Given the description of an element on the screen output the (x, y) to click on. 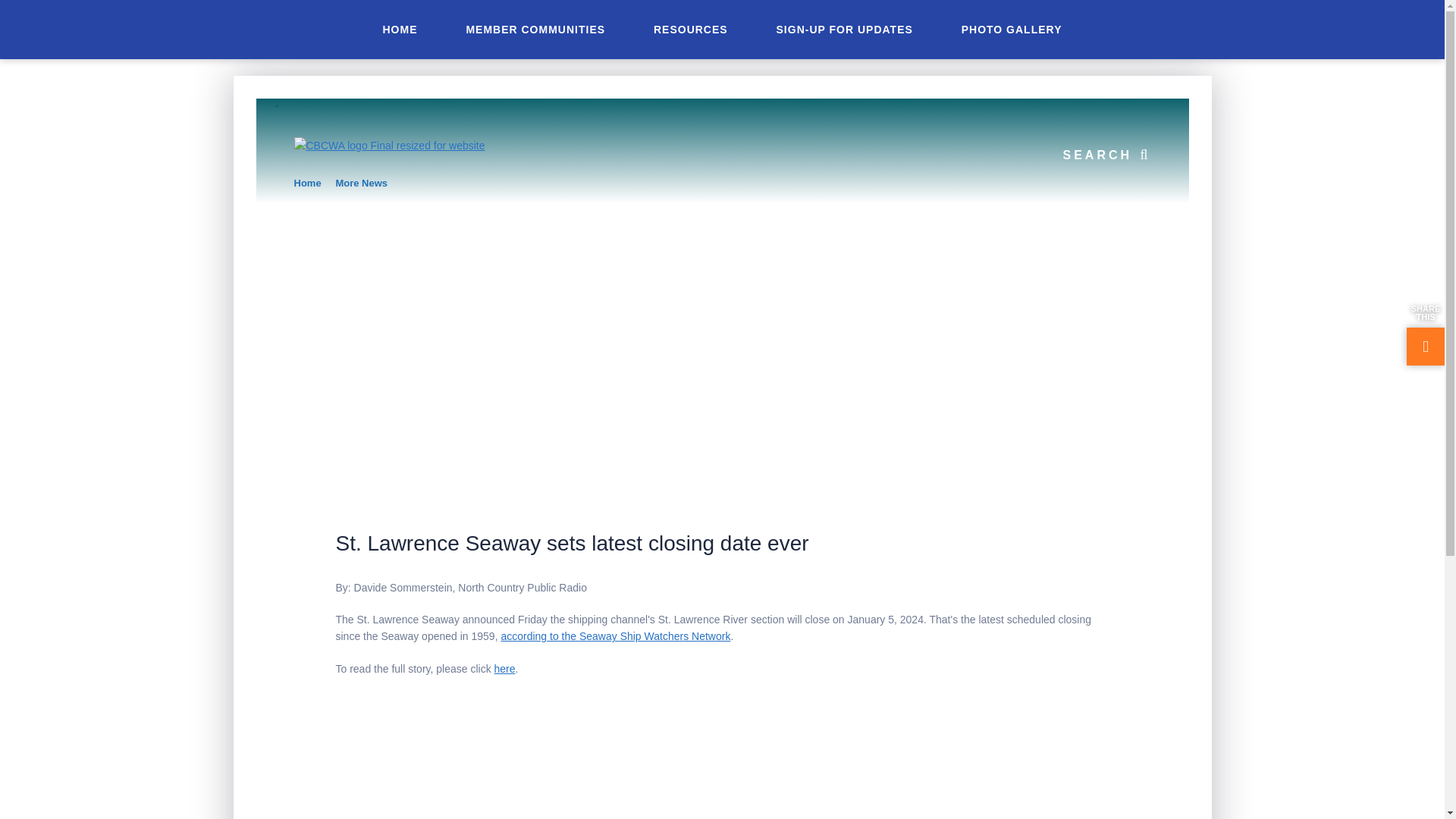
More News (360, 183)
SIGN-UP FOR UPDATES (845, 29)
HOME (399, 29)
MEMBER COMMUNITIES (534, 29)
Home (307, 183)
PHOTO GALLERY (1011, 29)
RESOURCES (690, 29)
according to the Seaway Ship Watchers Network (615, 635)
here (505, 668)
